Given the description of an element on the screen output the (x, y) to click on. 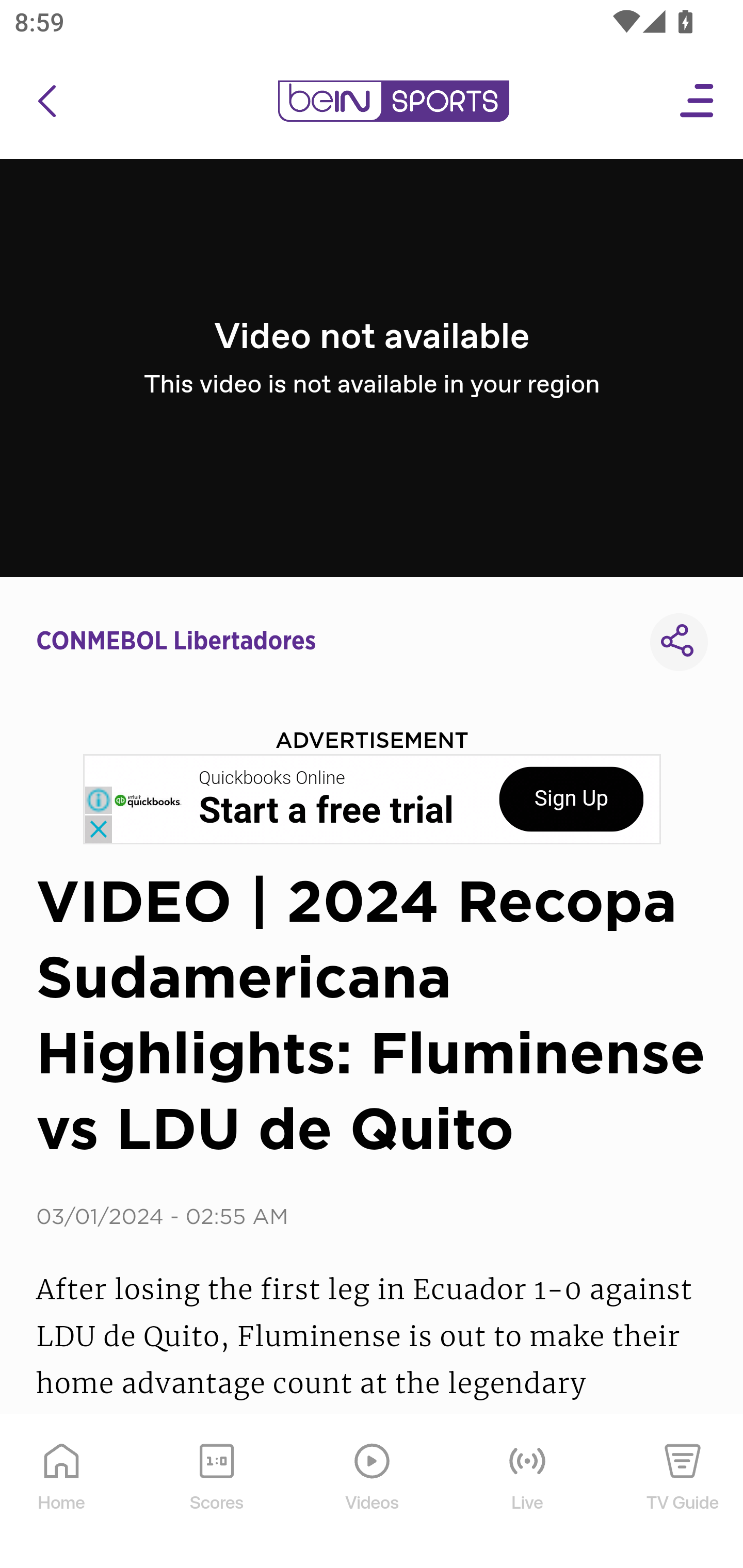
en-us?platform=mobile_android bein logo (392, 101)
icon back (46, 101)
Open Menu Icon (697, 101)
Quickbooks Online (272, 778)
Sign Up (571, 799)
Start a free trial (326, 810)
Home Home Icon Home (61, 1491)
Scores Scores Icon Scores (216, 1491)
Videos Videos Icon Videos (372, 1491)
TV Guide TV Guide Icon TV Guide (682, 1491)
